Given the description of an element on the screen output the (x, y) to click on. 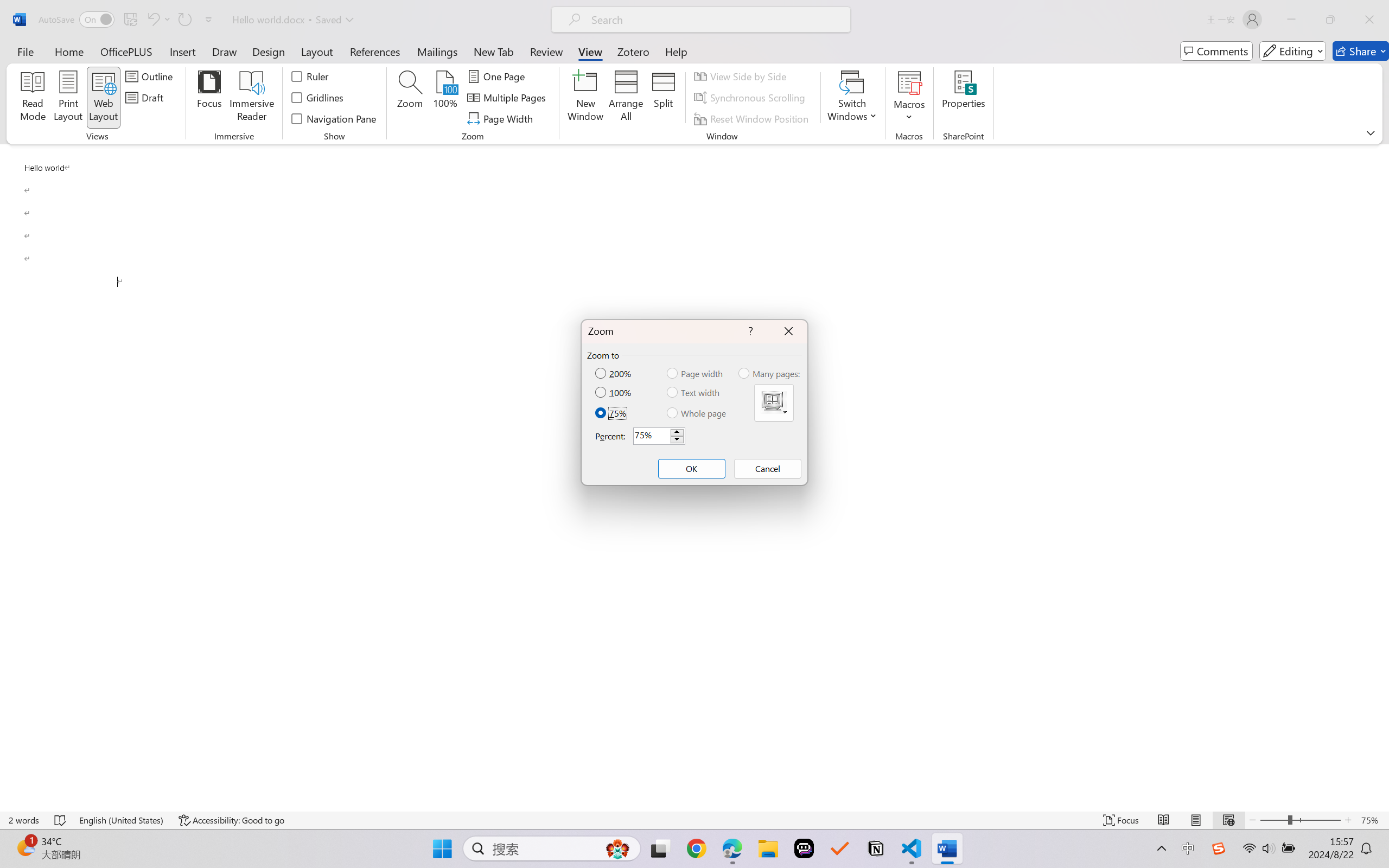
Undo Paragraph Formatting (152, 19)
Outline (150, 75)
Spelling and Grammar Check No Errors (60, 819)
Reset Window Position (752, 118)
100% (445, 97)
AutomationID: DynamicSearchBoxGleamImage (617, 848)
Read Mode (1163, 819)
Minimize (1291, 19)
RichEdit Control (651, 435)
Language English (United States) (121, 819)
